Given the description of an element on the screen output the (x, y) to click on. 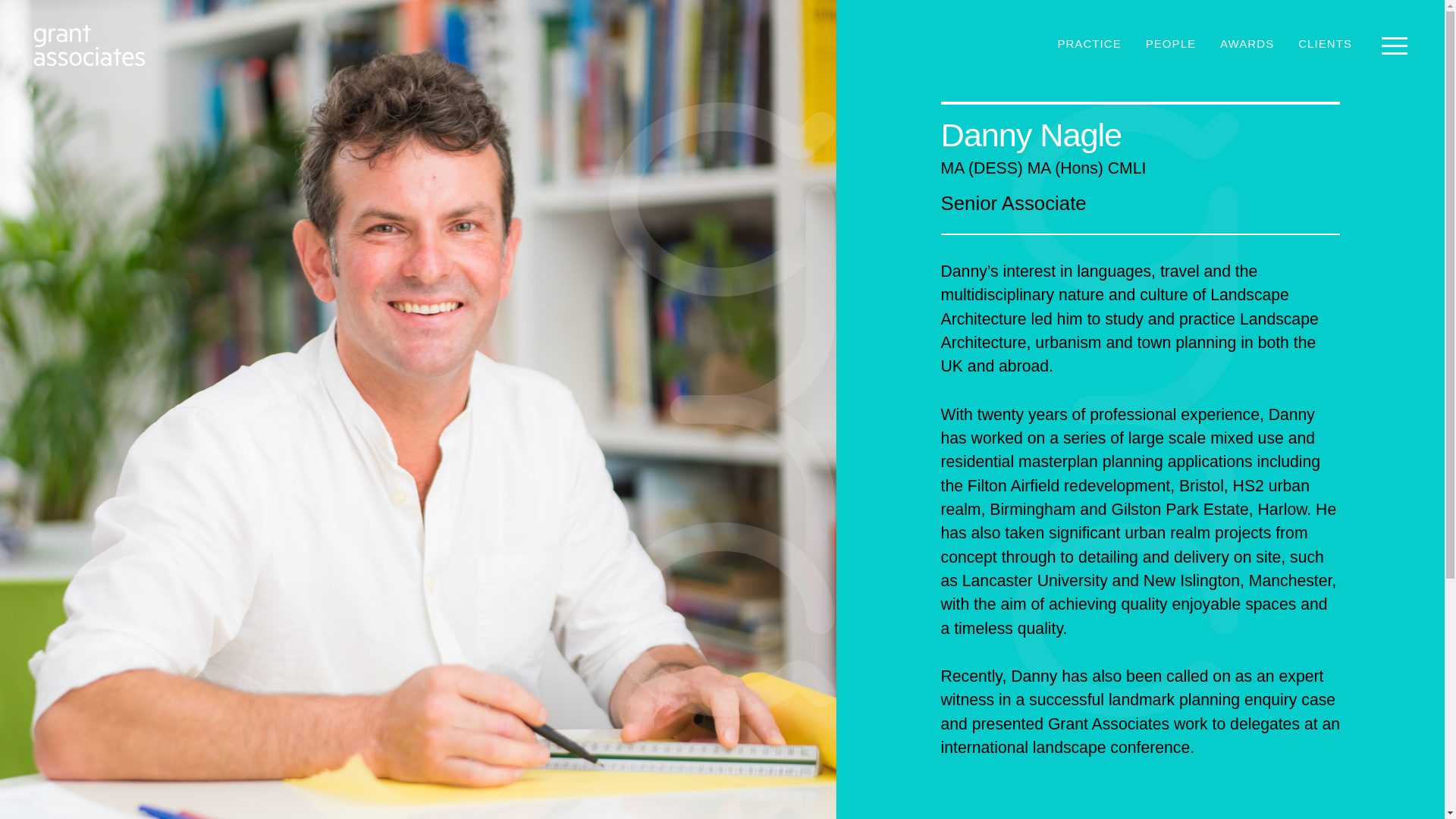
CLIENTS (1324, 43)
AWARDS (1246, 43)
PEOPLE (1171, 43)
PRACTICE (1088, 43)
